Given the description of an element on the screen output the (x, y) to click on. 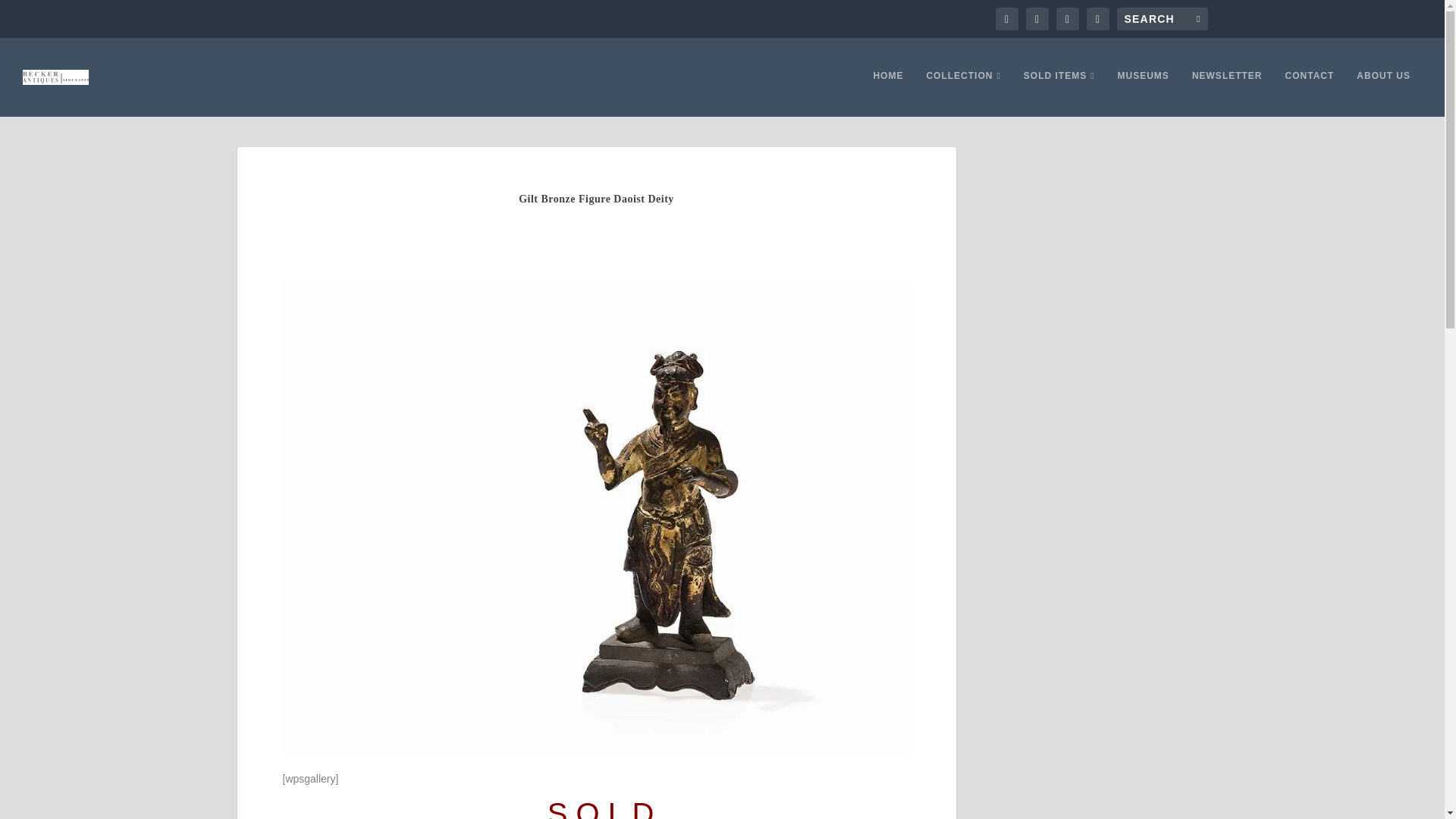
SOLD ITEMS (1058, 93)
Search for: (1161, 18)
ABOUT US (1383, 93)
HOME (887, 93)
CONTACT (1310, 93)
COLLECTION (963, 93)
NEWSLETTER (1227, 93)
MUSEUMS (1143, 93)
